Given the description of an element on the screen output the (x, y) to click on. 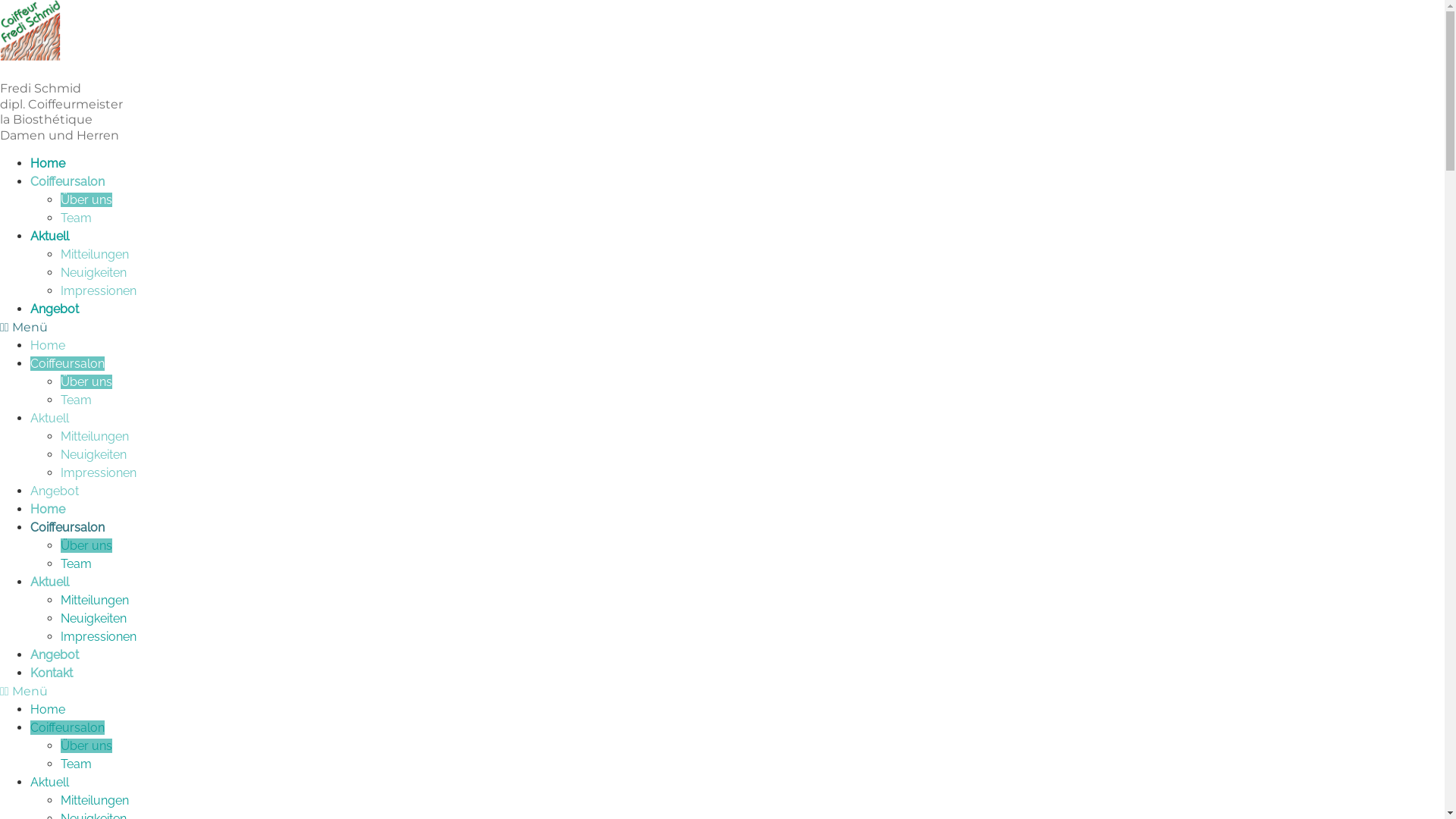
Coiffeursalon Element type: text (67, 181)
Neuigkeiten Element type: text (93, 618)
Impressionen Element type: text (98, 472)
Team Element type: text (75, 763)
Coiffeursalon Element type: text (67, 527)
Home Element type: text (47, 345)
Angebot Element type: text (54, 490)
Angebot Element type: text (54, 308)
Coiffeursalon Element type: text (67, 727)
Impressionen Element type: text (98, 636)
Aktuell Element type: text (49, 782)
Mitteilungen Element type: text (94, 436)
Aktuell Element type: text (49, 236)
Home Element type: text (47, 509)
Team Element type: text (75, 399)
Home Element type: text (47, 709)
Aktuell Element type: text (49, 418)
Team Element type: text (75, 217)
Coiffeursalon Element type: text (67, 363)
Neuigkeiten Element type: text (93, 454)
Mitteilungen Element type: text (94, 254)
Team Element type: text (75, 563)
Kontakt Element type: text (51, 672)
Impressionen Element type: text (98, 290)
Aktuell Element type: text (49, 581)
Home Element type: text (47, 163)
Neuigkeiten Element type: text (93, 272)
Mitteilungen Element type: text (94, 800)
Mitteilungen Element type: text (94, 600)
Angebot Element type: text (54, 654)
